Given the description of an element on the screen output the (x, y) to click on. 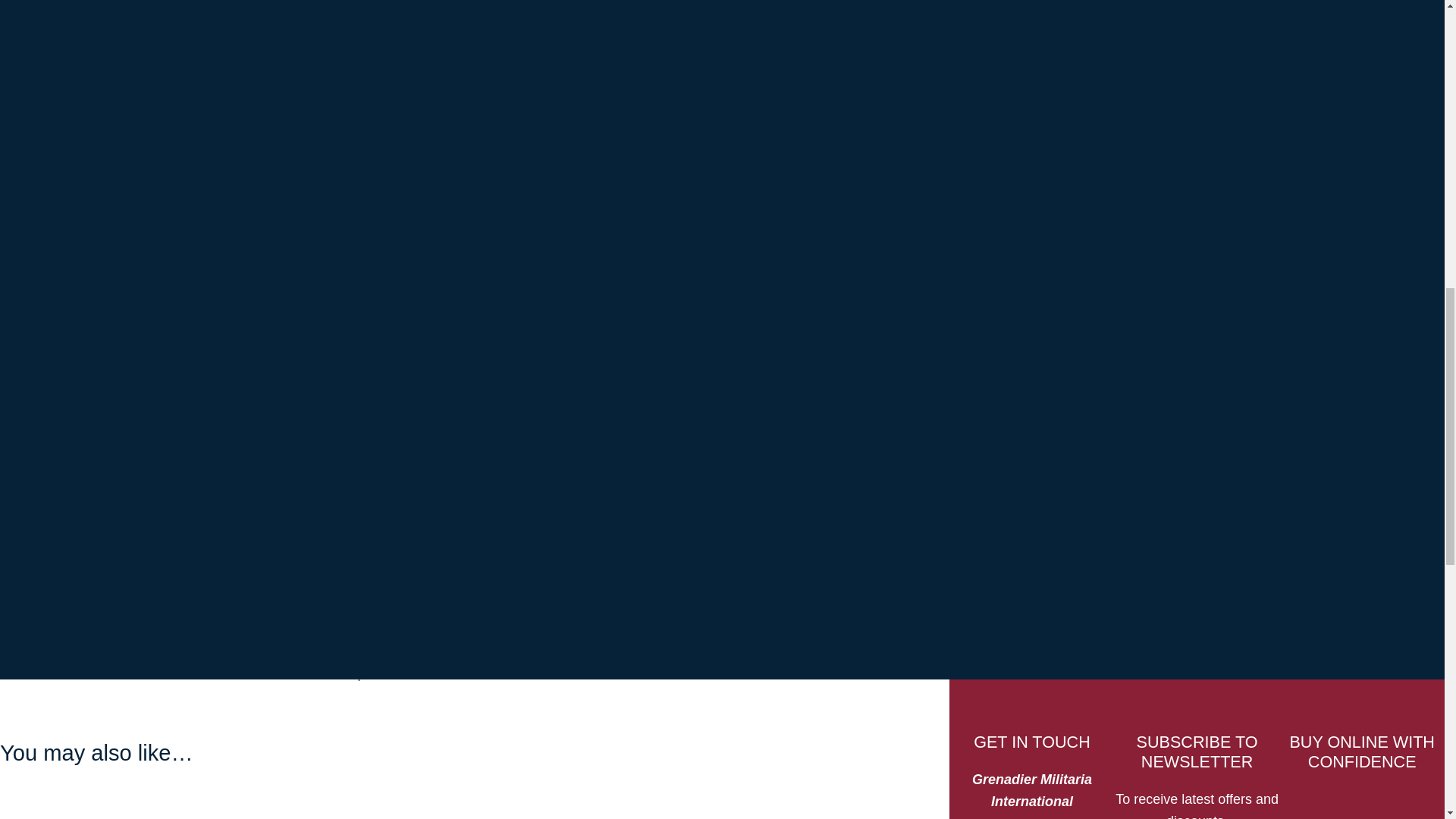
WW2 German Third Reich (715, 215)
PayPal Message 1 (659, 117)
Add to basket (659, 48)
Description (131, 341)
PayPal (659, 162)
